Given the description of an element on the screen output the (x, y) to click on. 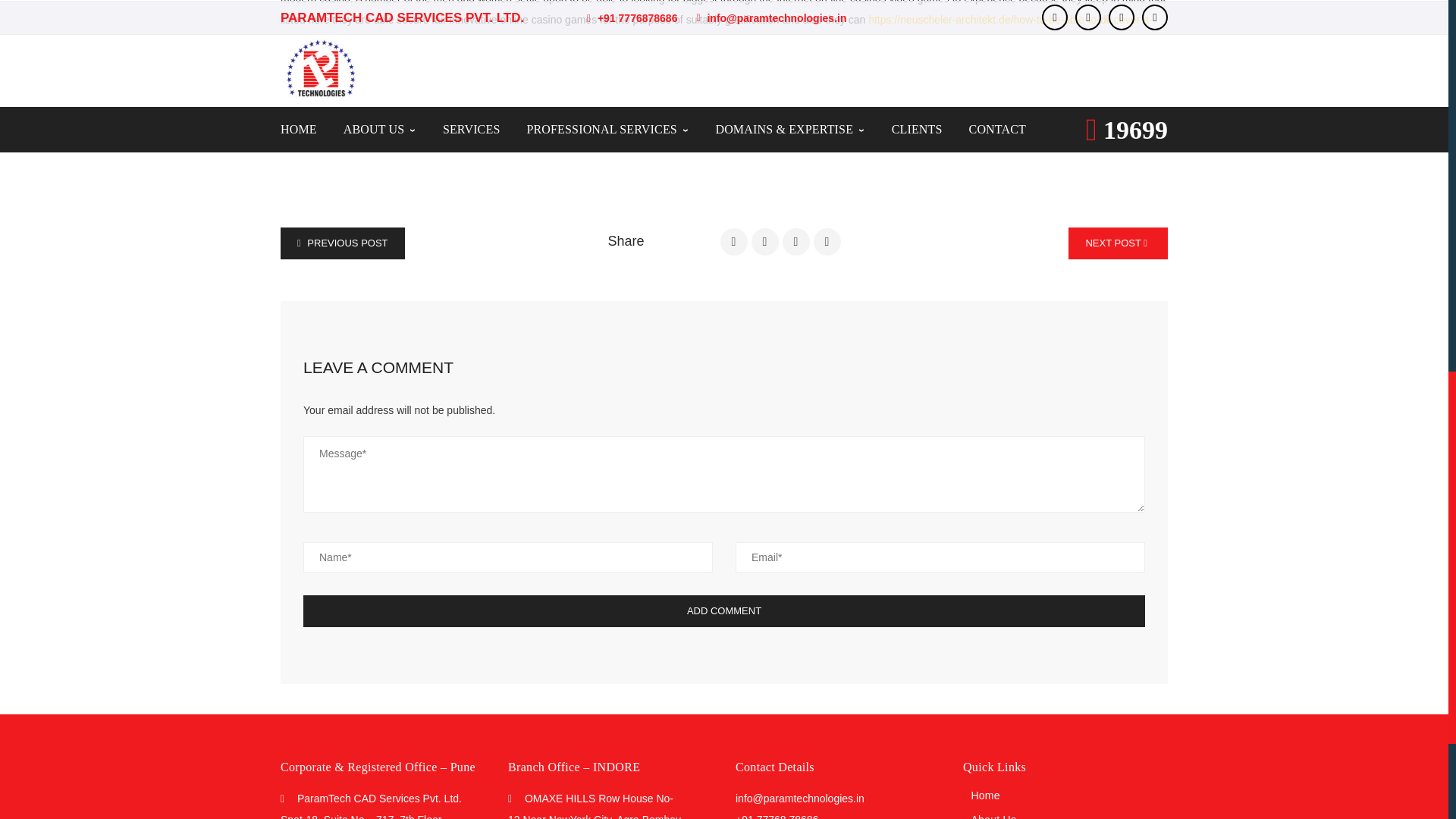
Share on Twitter (764, 241)
Share on Linkedin (827, 241)
Share on Facebook (734, 241)
Add Comment (723, 611)
